Given the description of an element on the screen output the (x, y) to click on. 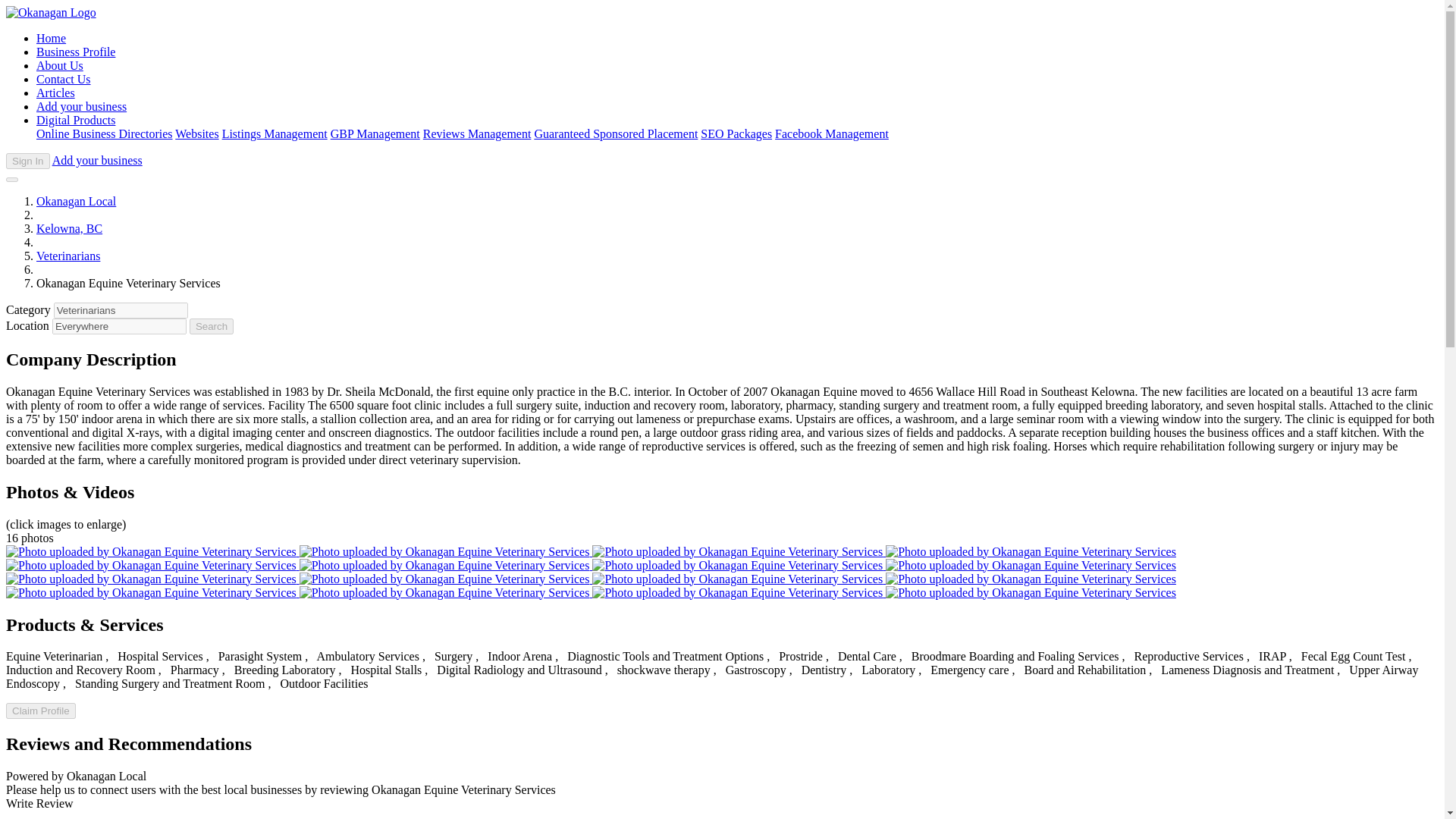
Listings Management (274, 133)
Photo uploaded by Okanagan Equine Veterinary Services (152, 564)
Digital Products (75, 119)
Websites (196, 133)
Photo uploaded by Okanagan Equine Veterinary Services (445, 551)
Photo uploaded by Okanagan Equine Veterinary Services (1030, 551)
SEO Packages (735, 133)
Photo uploaded by Okanagan Equine Veterinary Services (1030, 592)
Veterinarians (120, 310)
Facebook Management (831, 133)
Photo uploaded by Okanagan Equine Veterinary Services (738, 551)
Photo uploaded by Okanagan Equine Veterinary Services (152, 592)
Business Profile (75, 51)
Add your business (97, 160)
Photo uploaded by Okanagan Equine Veterinary Services (152, 578)
